Given the description of an element on the screen output the (x, y) to click on. 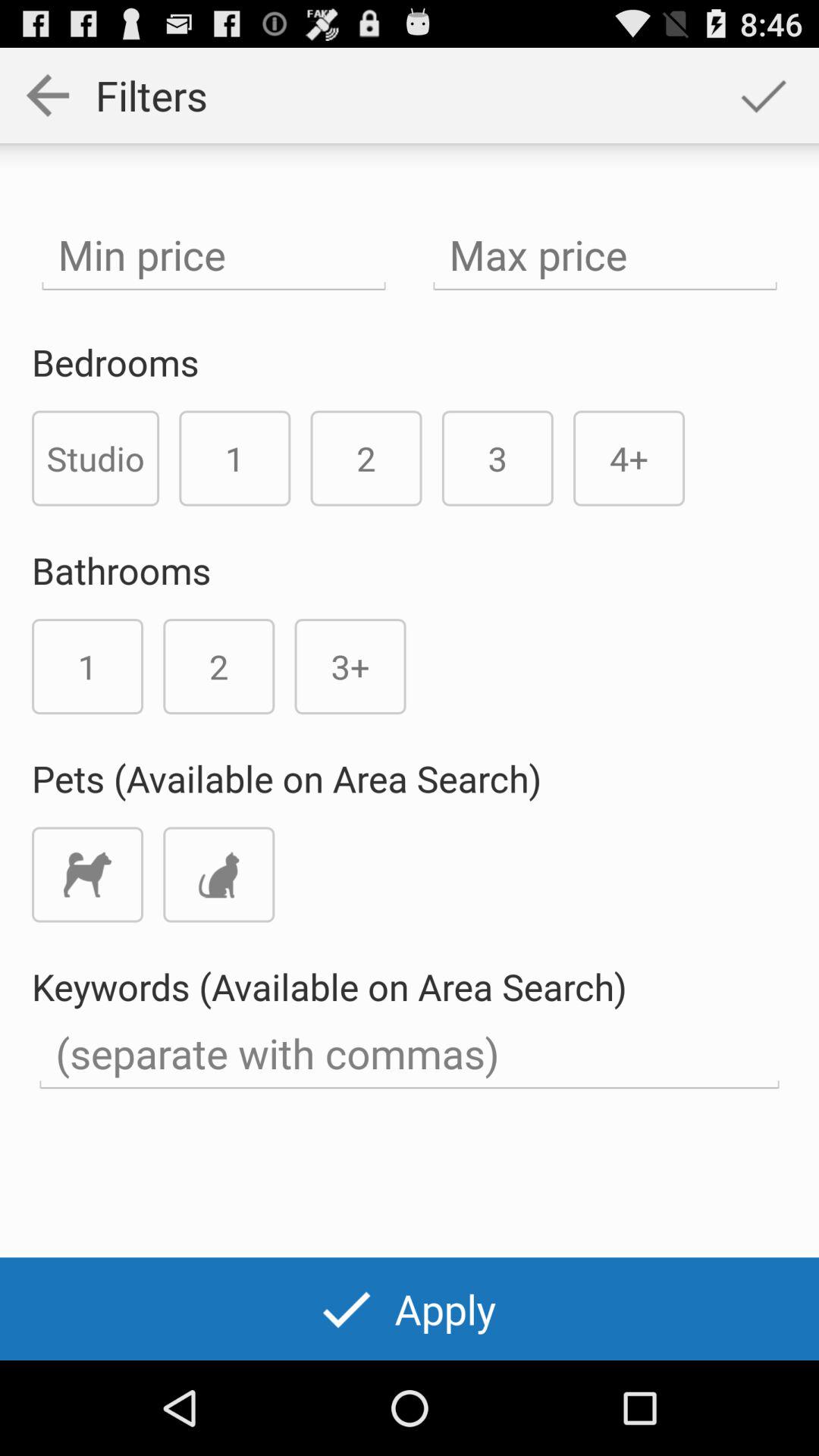
press studio (95, 458)
